Given the description of an element on the screen output the (x, y) to click on. 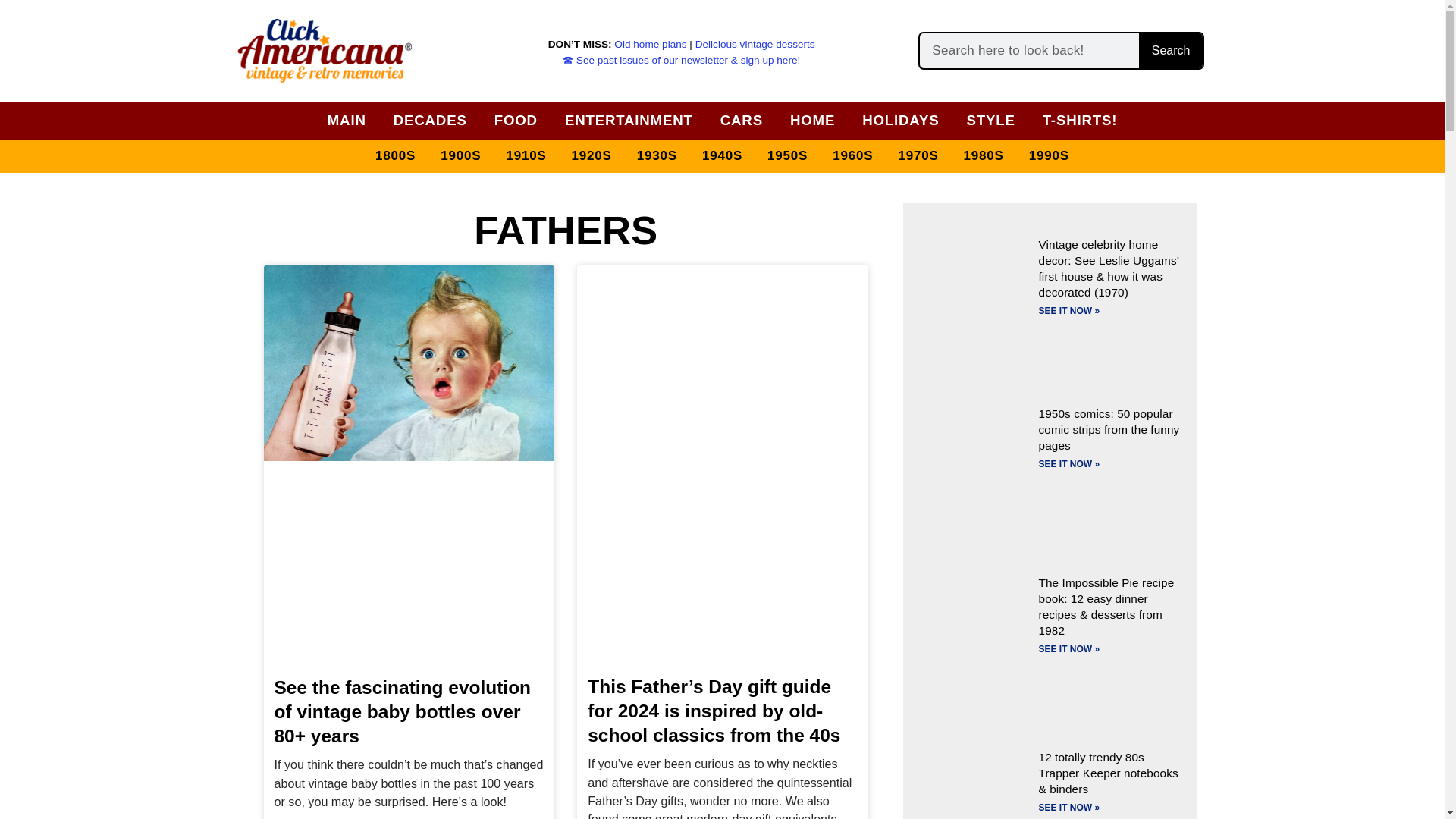
T-SHIRTS! (1080, 120)
1970S (917, 155)
1980S (984, 155)
1920S (591, 155)
1950S (787, 155)
Old home plans (649, 43)
HOME (812, 120)
Search (1170, 50)
1930S (656, 155)
DECADES (430, 120)
